Given the description of an element on the screen output the (x, y) to click on. 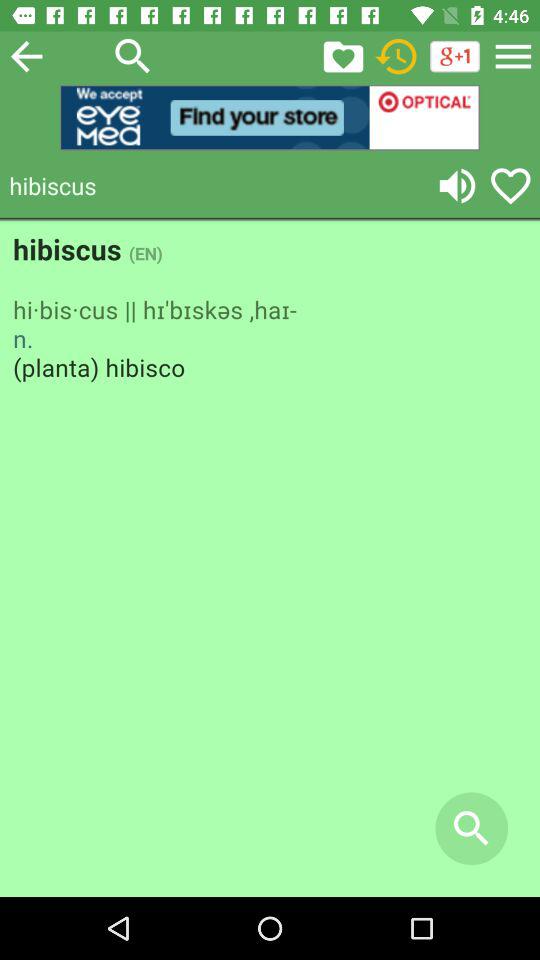
volume control (457, 185)
